Given the description of an element on the screen output the (x, y) to click on. 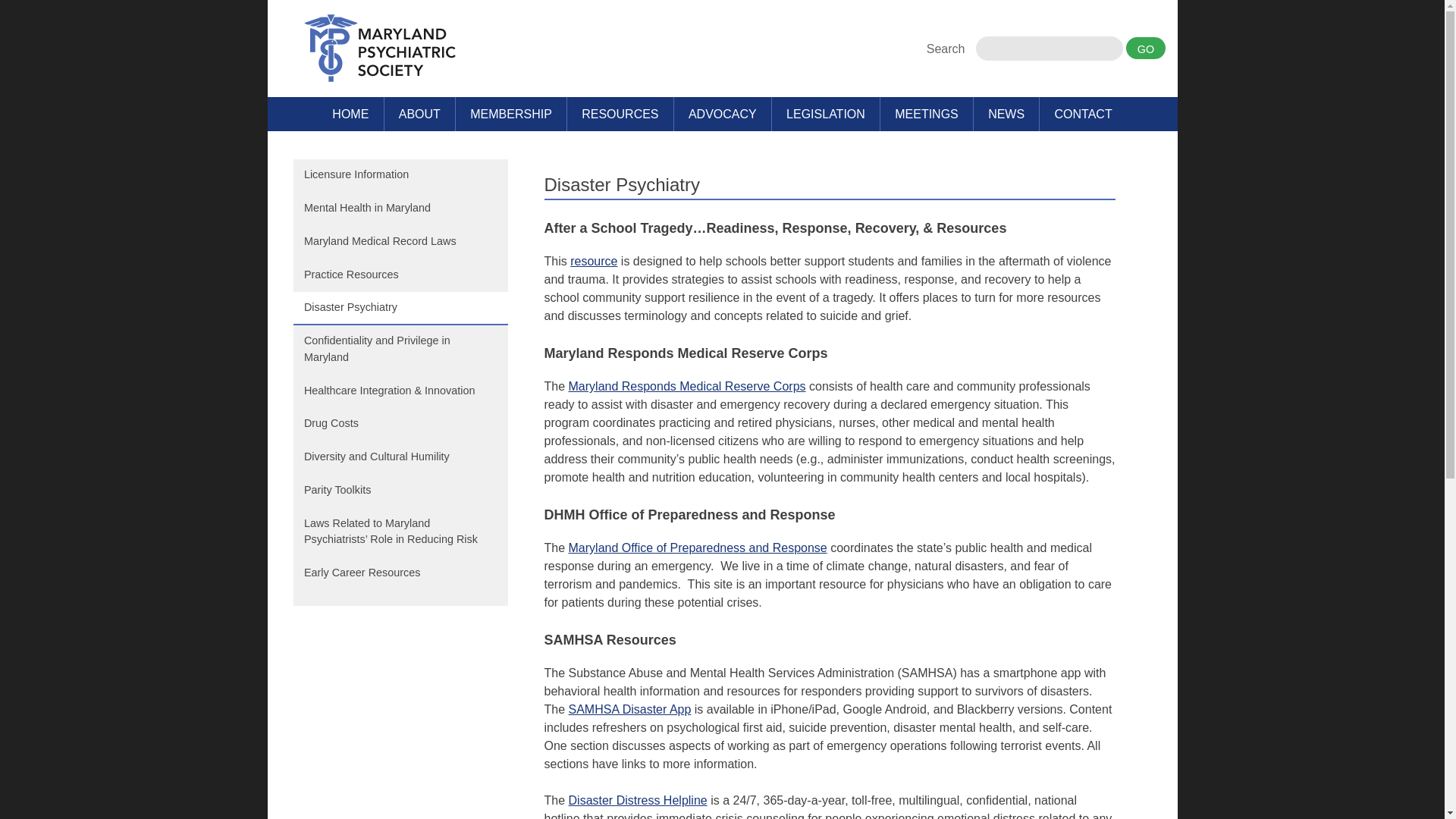
Disaster Distress Helpline (638, 799)
LEGISLATION (825, 114)
GO (1144, 47)
Licensure Information (399, 175)
Maryland Medical Record Laws (399, 242)
NEWS (1006, 114)
Confidentiality and Privilege in Maryland (399, 349)
GO (1144, 47)
ABOUT (419, 114)
Search for: (1048, 48)
Diversity and Cultural Humility (399, 458)
RESOURCES (619, 114)
MEETINGS (926, 114)
Parity Toolkits (399, 491)
